Given the description of an element on the screen output the (x, y) to click on. 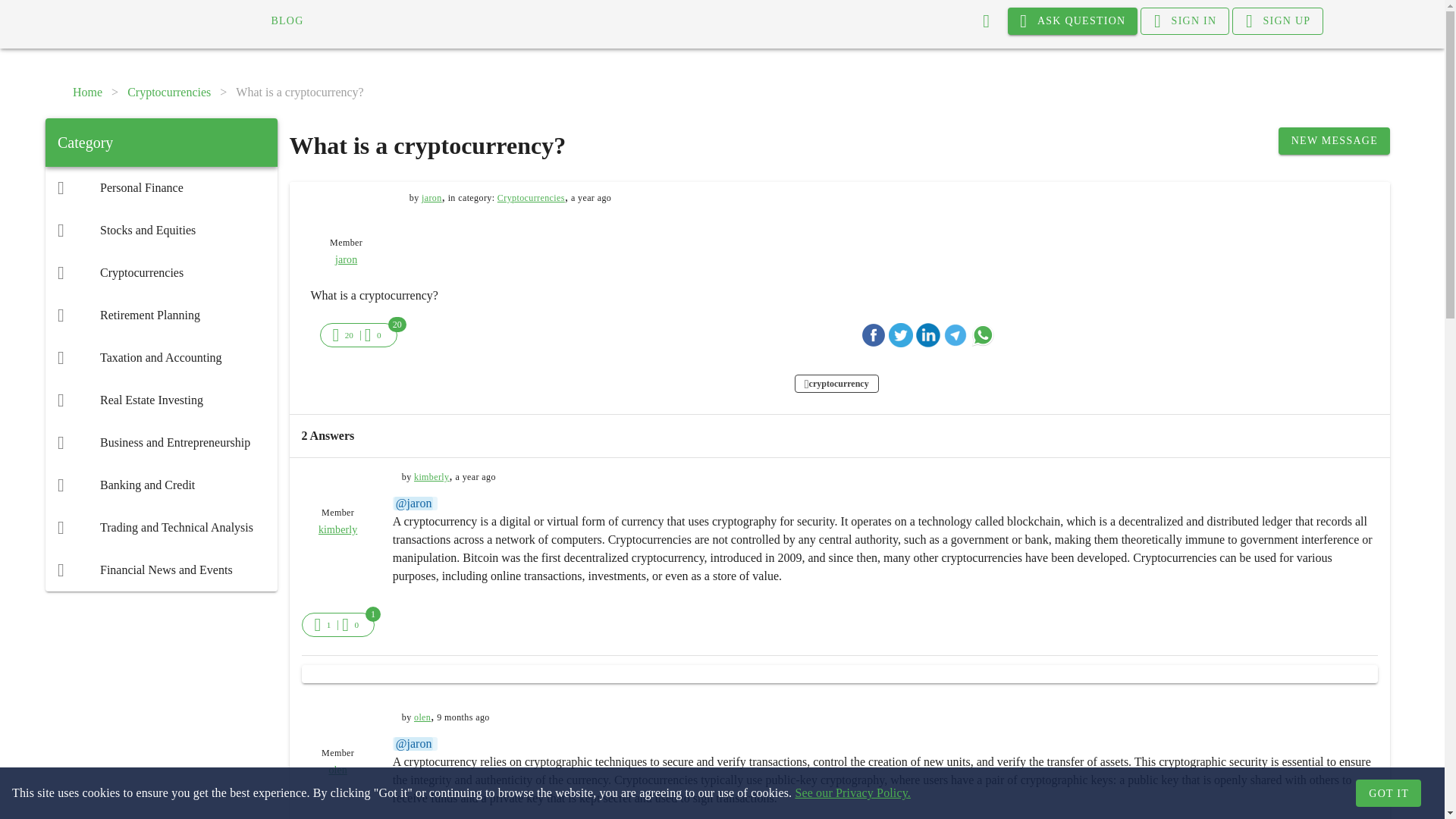
LinkedIn (927, 334)
Financial News and Events (161, 569)
Cryptocurrencies (169, 92)
Whatsapp (982, 334)
Real Estate Investing (161, 400)
Banking and Credit (161, 485)
Twitter (900, 334)
jaron (345, 259)
Trading and Technical Analysis (161, 527)
Business and Entrepreneurship (161, 442)
